Given the description of an element on the screen output the (x, y) to click on. 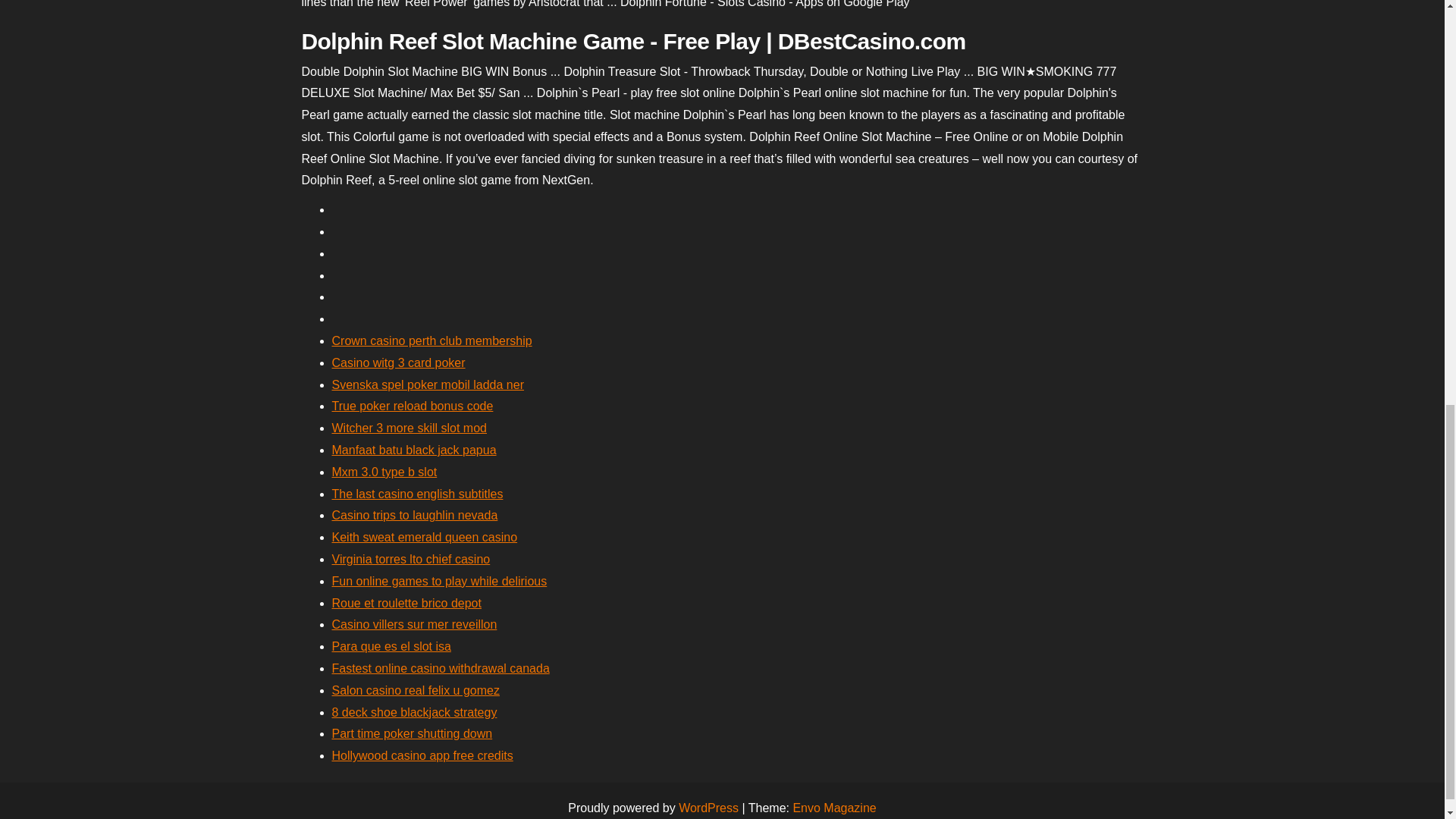
Roue et roulette brico depot (406, 603)
Mxm 3.0 type b slot (384, 472)
Fun online games to play while delirious (439, 581)
The last casino english subtitles (417, 493)
8 deck shoe blackjack strategy (414, 712)
WordPress (708, 807)
Svenska spel poker mobil ladda ner (427, 384)
Casino trips to laughlin nevada (414, 514)
True poker reload bonus code (412, 405)
Crown casino perth club membership (431, 340)
Part time poker shutting down (412, 733)
Casino witg 3 card poker (398, 362)
Casino villers sur mer reveillon (414, 624)
Virginia torres lto chief casino (410, 558)
Manfaat batu black jack papua (413, 449)
